Given the description of an element on the screen output the (x, y) to click on. 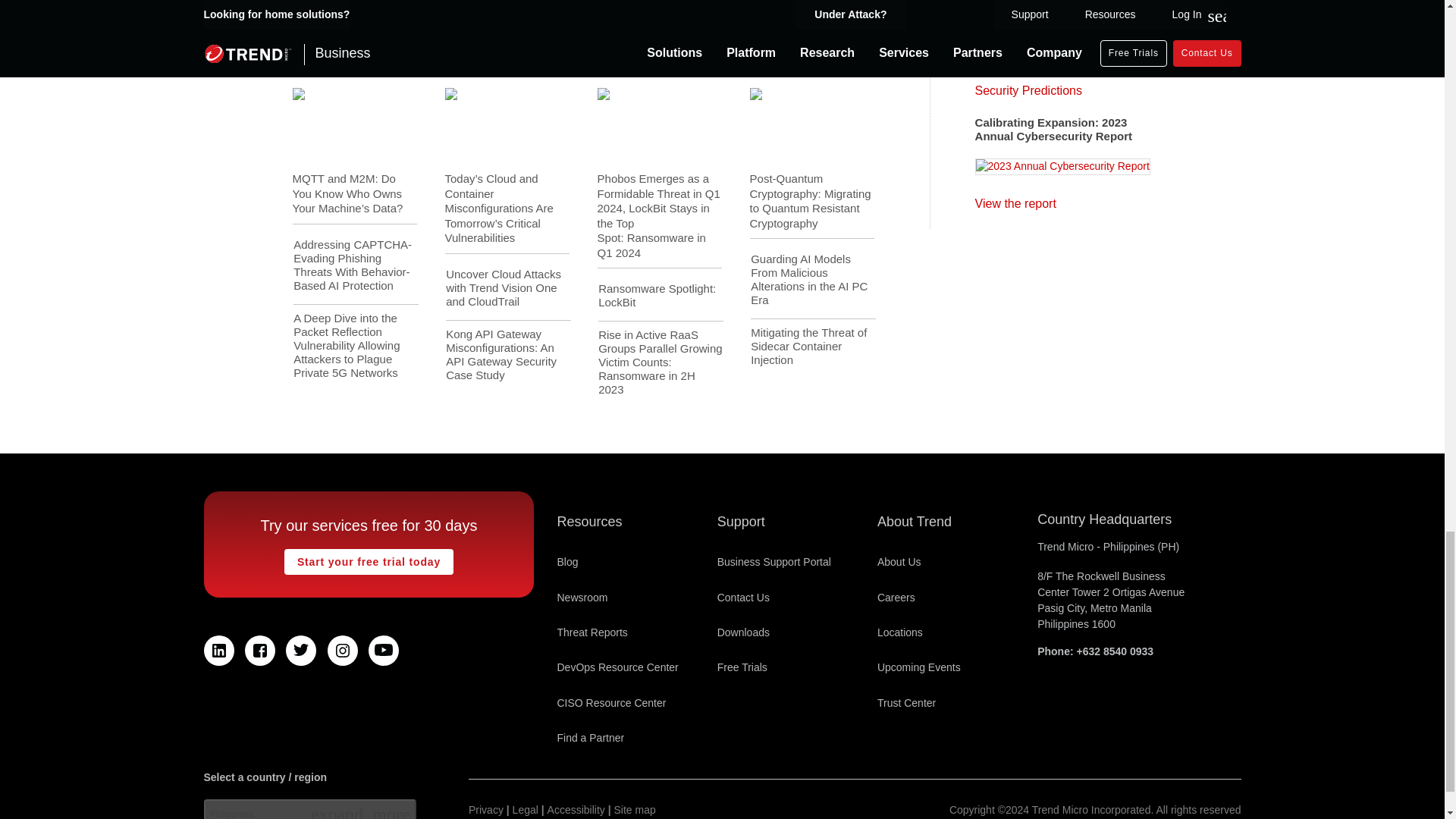
privacy (485, 810)
Site map (635, 810)
Accessibility (576, 810)
Legal (525, 810)
